Given the description of an element on the screen output the (x, y) to click on. 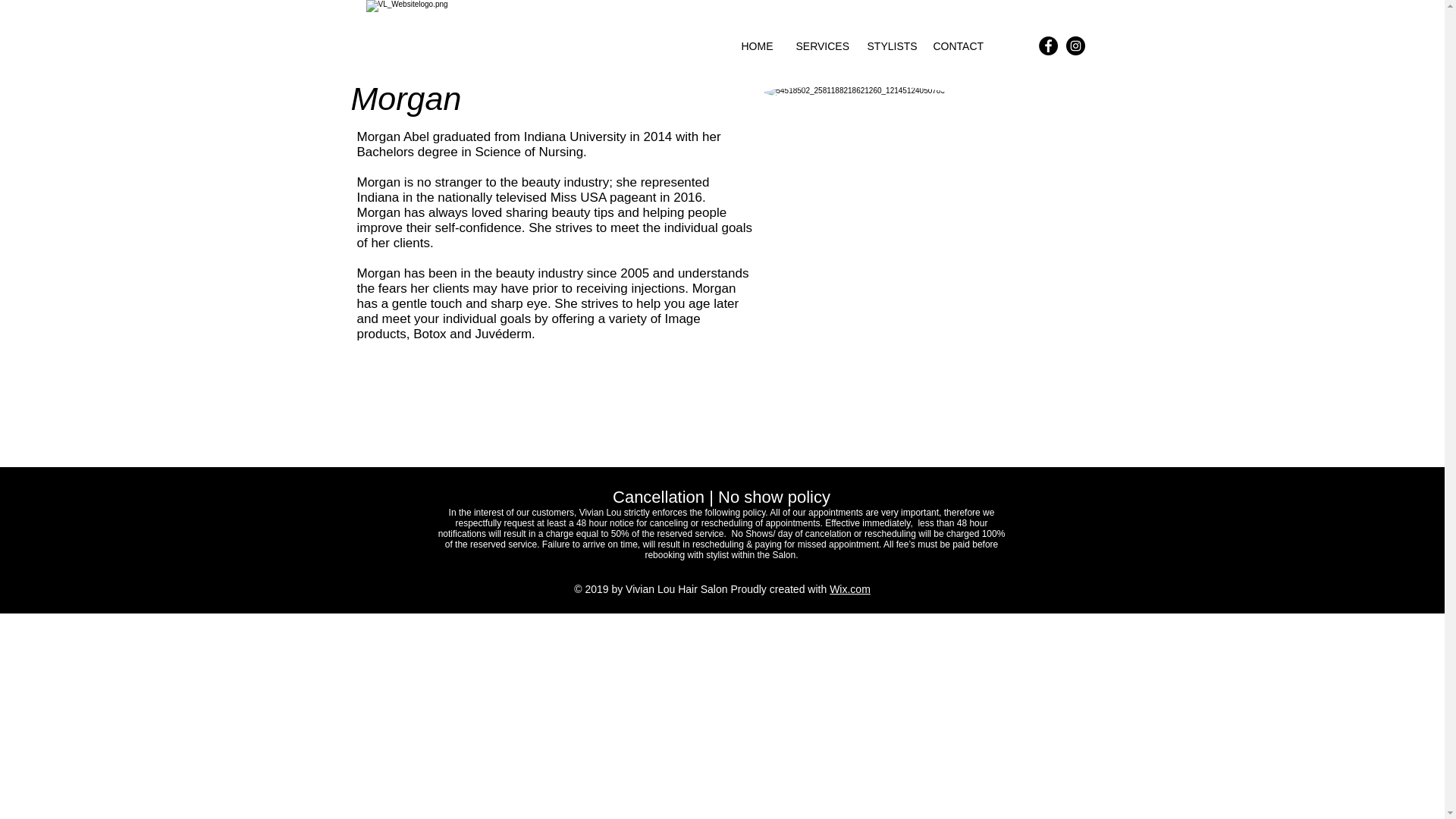
HOME (756, 46)
CONTACT (957, 46)
STYLISTS (888, 46)
Wix.com (849, 589)
